Given the description of an element on the screen output the (x, y) to click on. 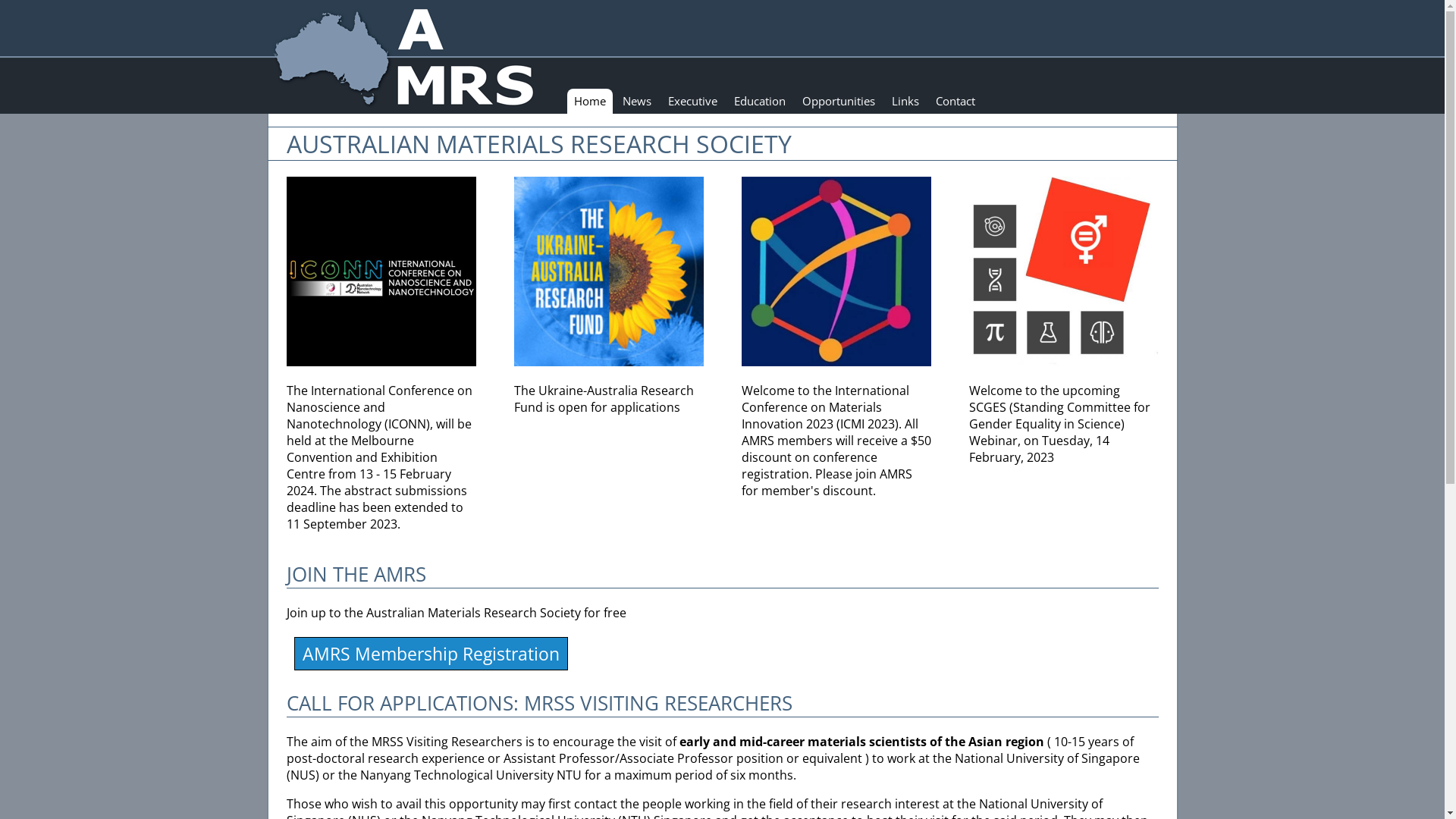
Opportunities Element type: text (837, 100)
Contact Element type: text (954, 100)
Links Element type: text (904, 100)
News Element type: text (636, 100)
The Ukraine-Australia Research Fund is open for applications Element type: text (608, 384)
Executive Element type: text (692, 100)
AMRS Membership Registration Element type: text (430, 653)
Home Element type: text (589, 100)
Education Element type: text (758, 100)
